Given the description of an element on the screen output the (x, y) to click on. 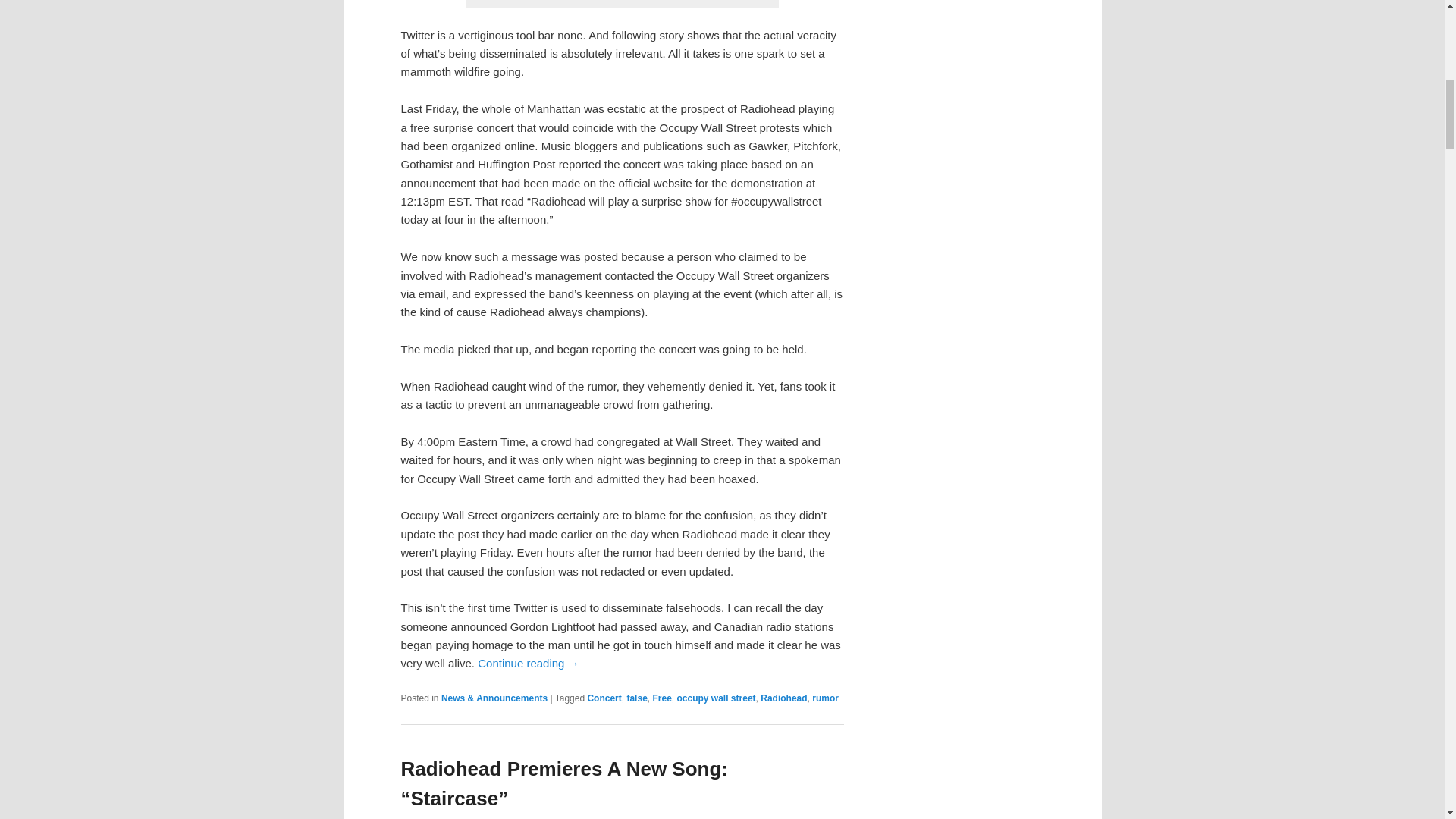
Free (661, 697)
rumor (825, 697)
Radiohead (783, 697)
Concert (603, 697)
occupy wall street (716, 697)
false (636, 697)
